Given the description of an element on the screen output the (x, y) to click on. 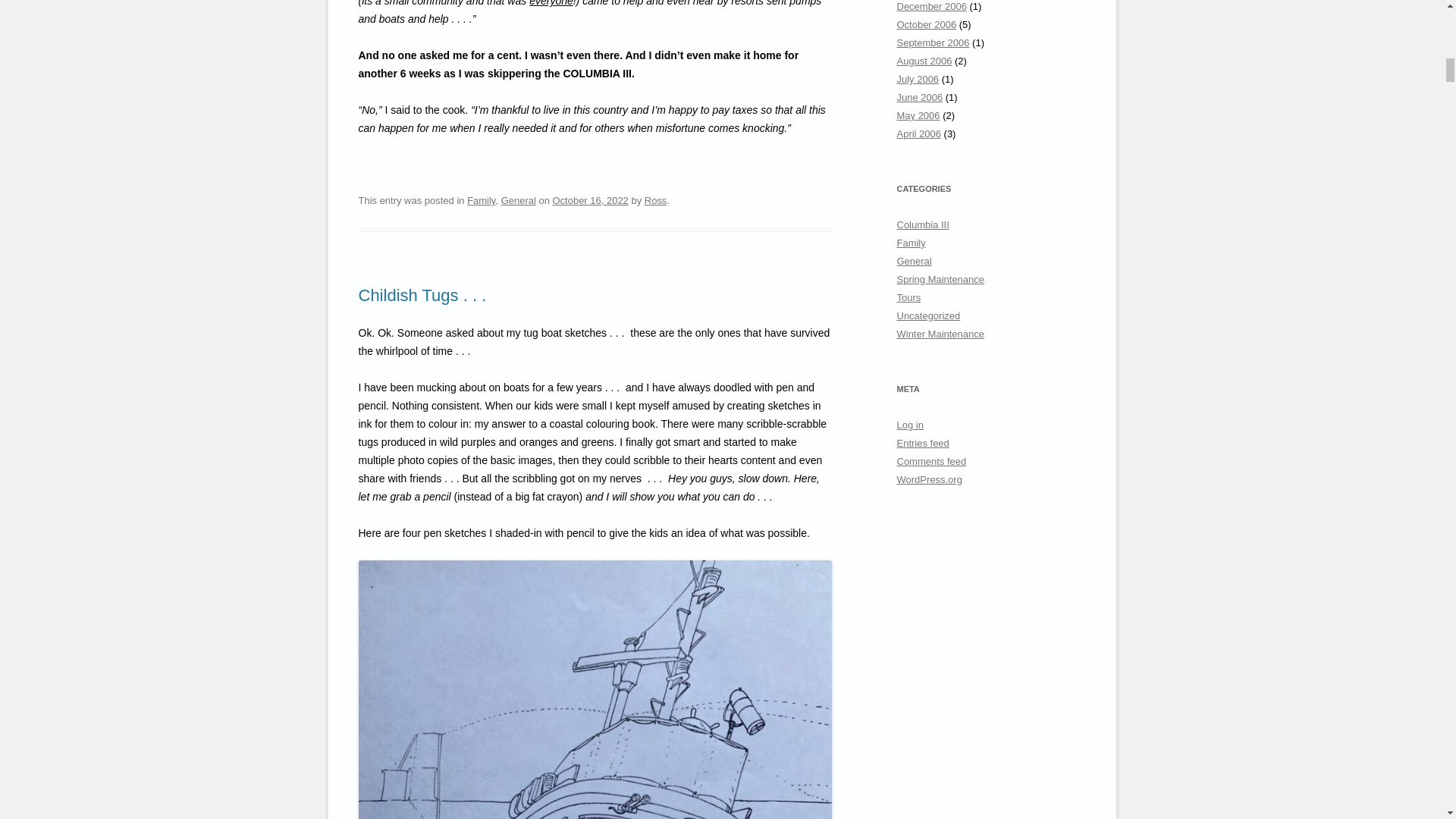
October 16, 2022 (589, 200)
Ross (655, 200)
Childish Tugs . . . (422, 294)
General (517, 200)
View all posts by Ross (655, 200)
11:29 am (589, 200)
Family (481, 200)
